Given the description of an element on the screen output the (x, y) to click on. 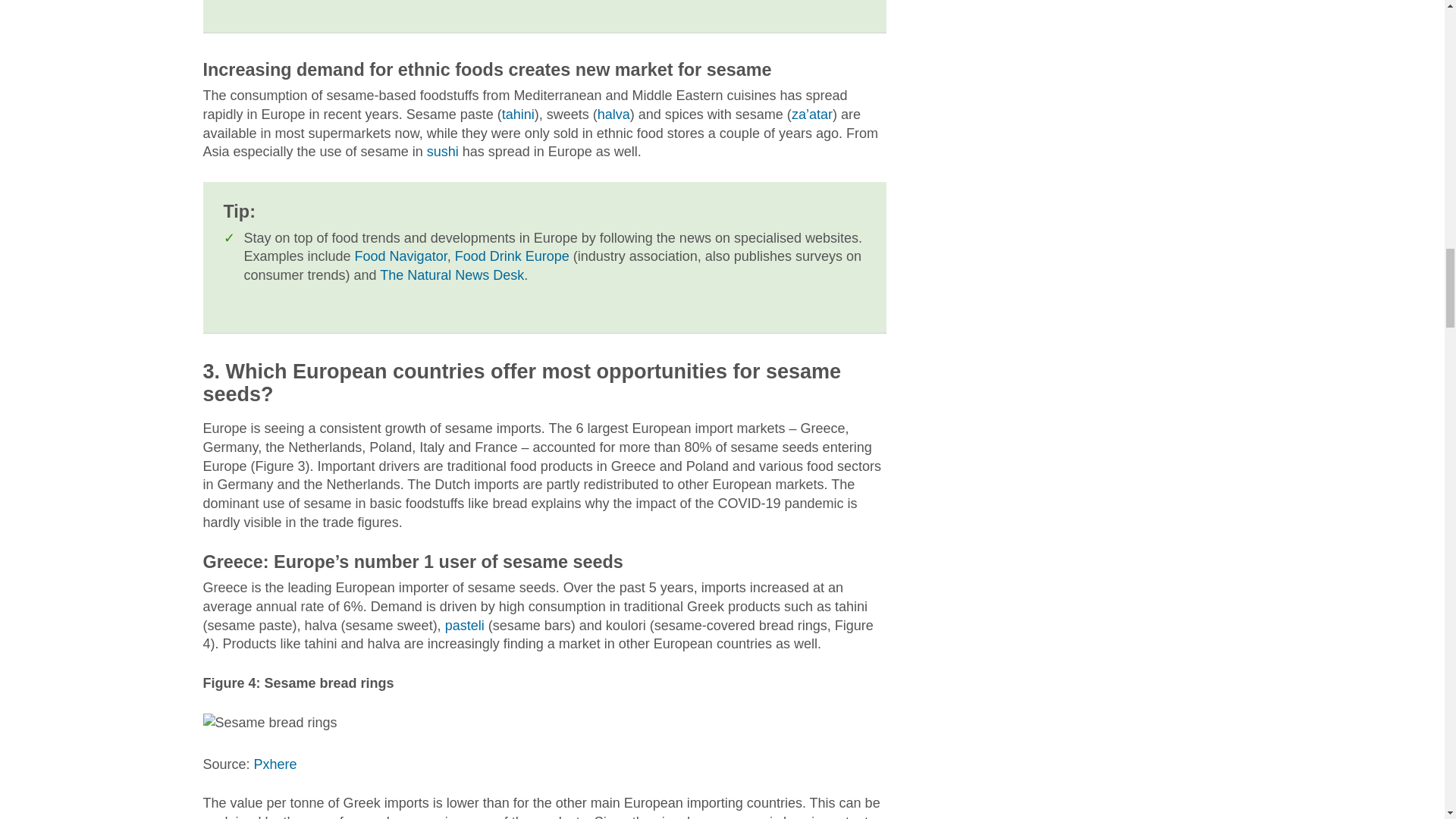
The Natural News Desk (452, 274)
Pxhere (275, 764)
pasteli (464, 625)
tahini (518, 114)
Food Navigator (400, 255)
halva (613, 114)
sushi (442, 151)
Food Drink Europe (511, 255)
